Given the description of an element on the screen output the (x, y) to click on. 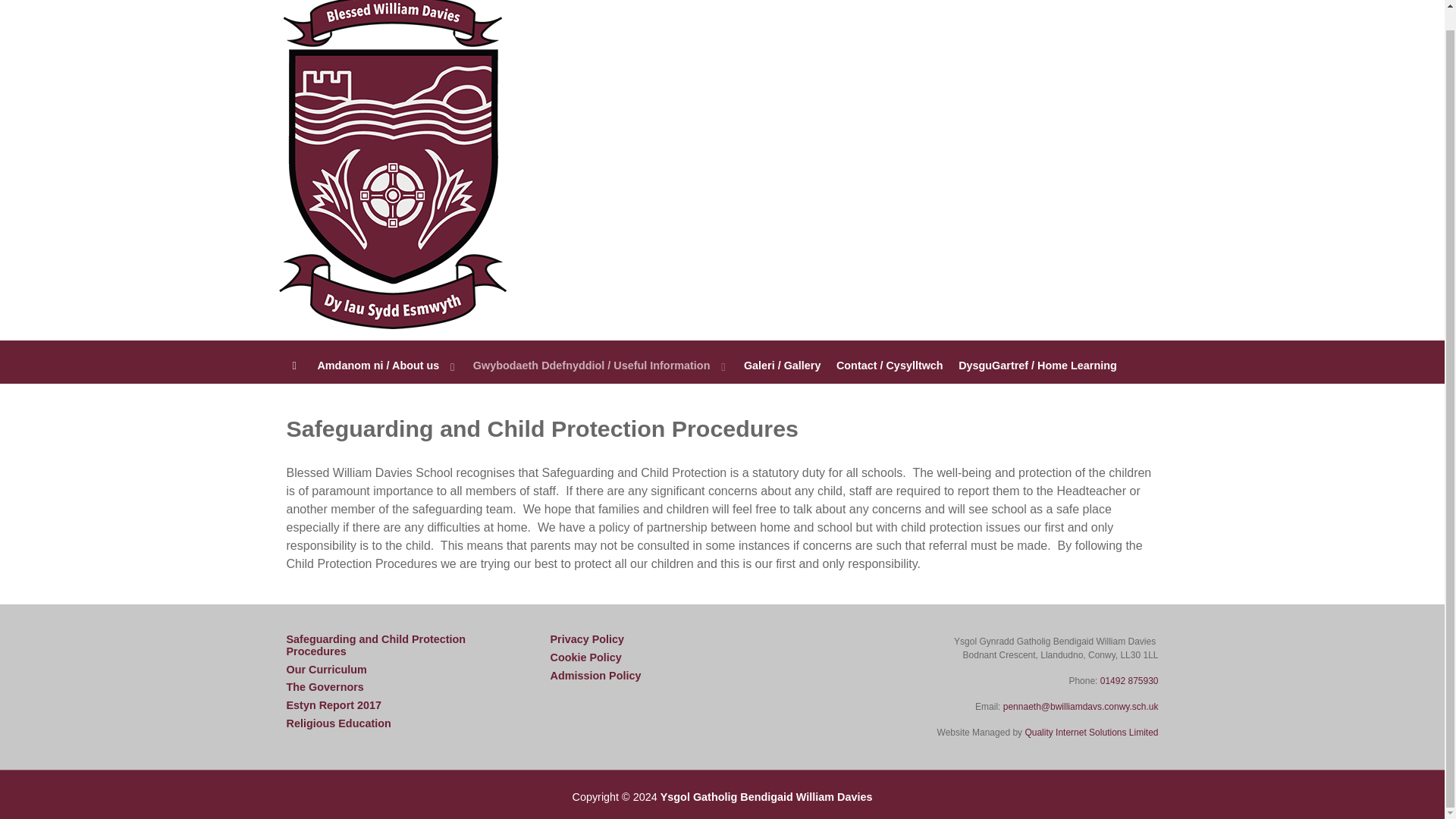
Admission Policy (596, 675)
Safeguarding and Child Protection Procedures (399, 644)
Estyn Report 2017 (333, 705)
Quality Internet Solutions Limited (1091, 732)
The Governors (325, 687)
Our Curriculum (326, 669)
Privacy Policy (587, 638)
Religious Education (338, 723)
01492 875930 (1129, 680)
Cookie Policy (585, 657)
